Given the description of an element on the screen output the (x, y) to click on. 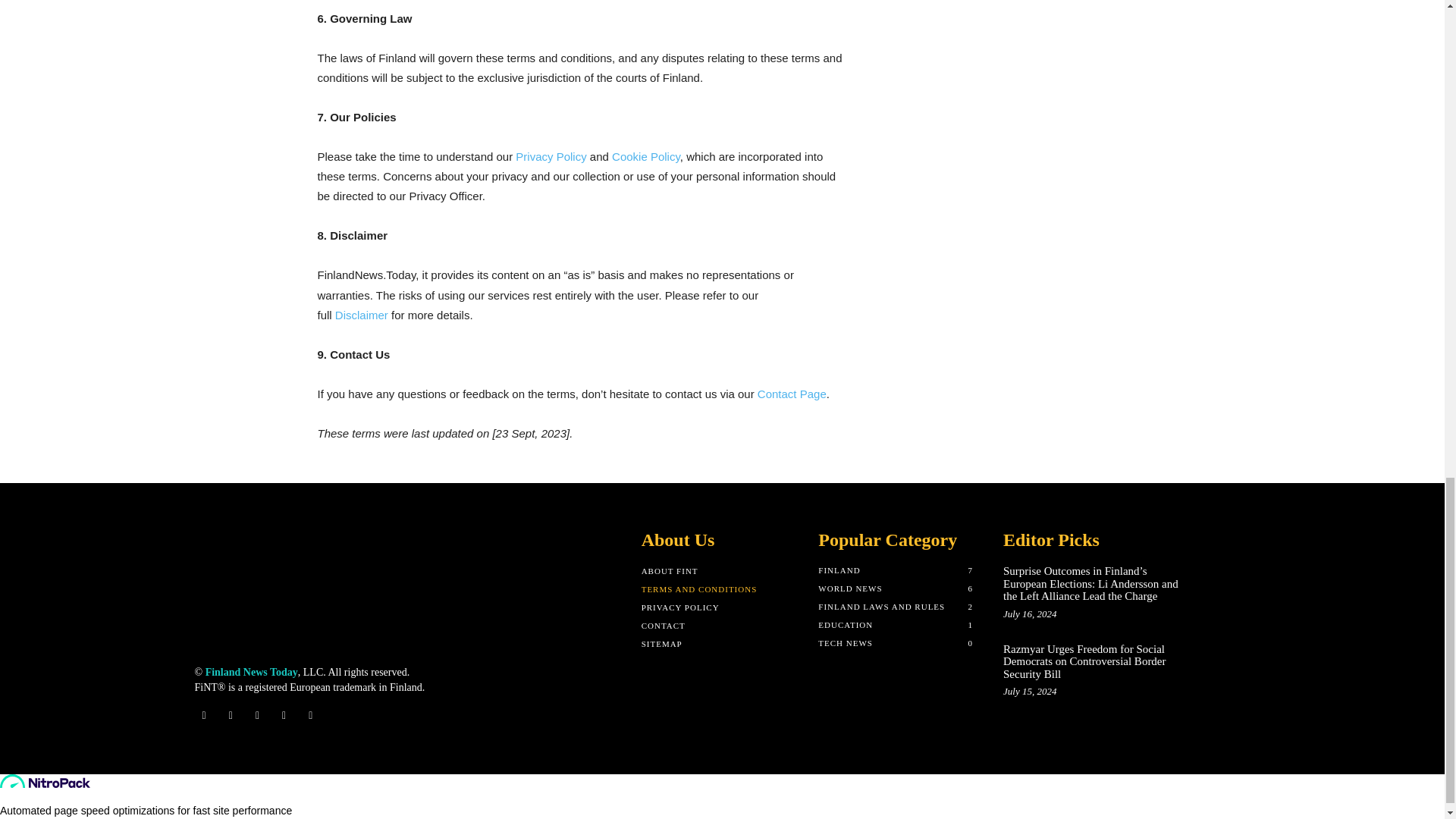
Instagram (230, 714)
Facebook (202, 714)
